Given the description of an element on the screen output the (x, y) to click on. 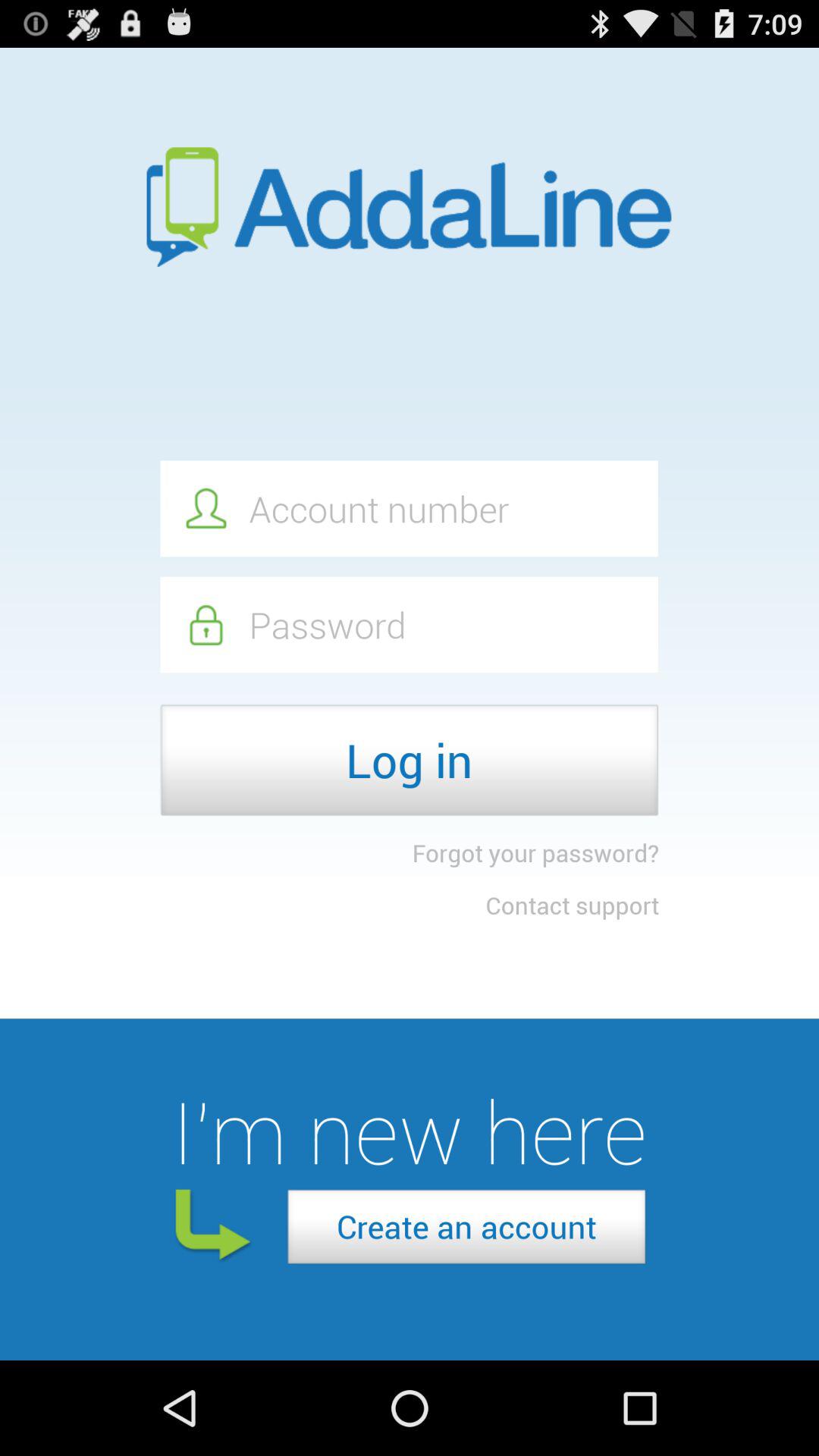
flip to the log in (409, 759)
